Given the description of an element on the screen output the (x, y) to click on. 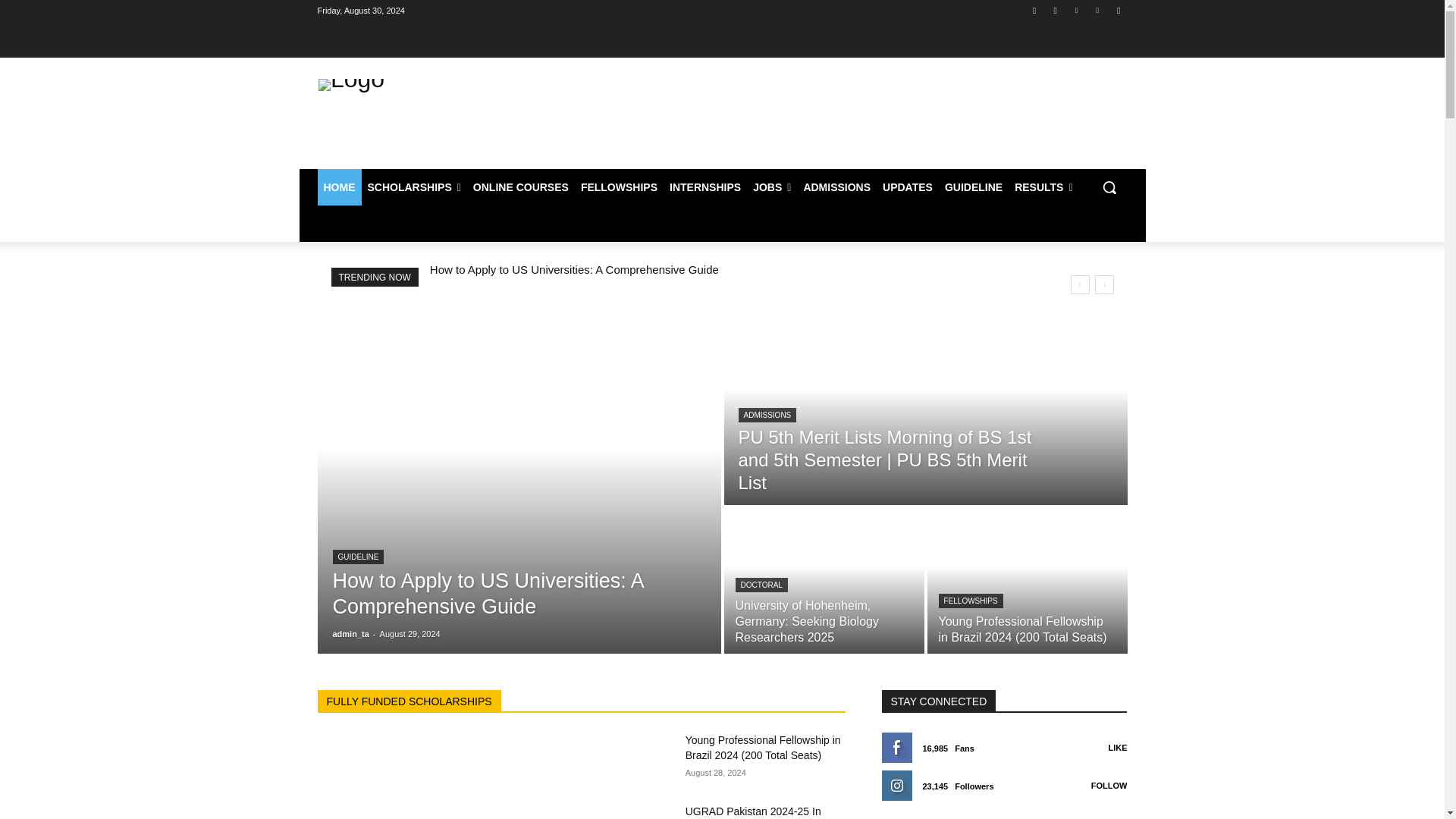
Instagram (1055, 9)
INTERNSHIPS (704, 186)
How to Apply to US Universities: A Comprehensive Guide (487, 593)
Linkedin (1075, 9)
Pinterest (1097, 9)
How to Apply to US Universities: A Comprehensive Guide (574, 269)
Facebook (1034, 9)
FELLOWSHIPS (619, 186)
Telegram (1117, 9)
